Given the description of an element on the screen output the (x, y) to click on. 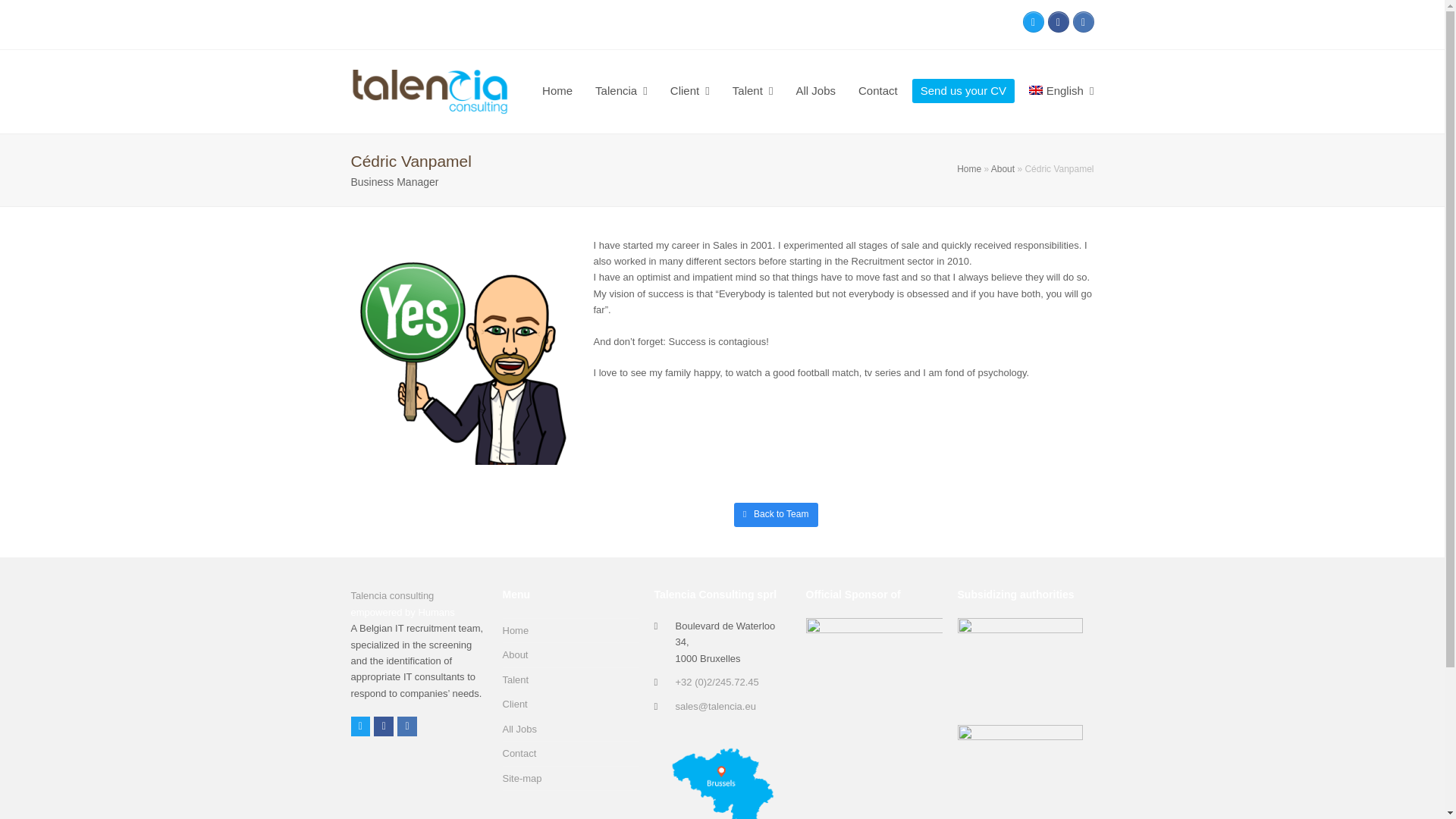
LinkedIn (406, 726)
Send us your CV (962, 91)
All Jobs (815, 91)
LinkedIn (1082, 21)
Home (968, 168)
English (1061, 91)
Talencia (621, 91)
Facebook (1058, 21)
Contact (877, 91)
Client (689, 91)
